Given the description of an element on the screen output the (x, y) to click on. 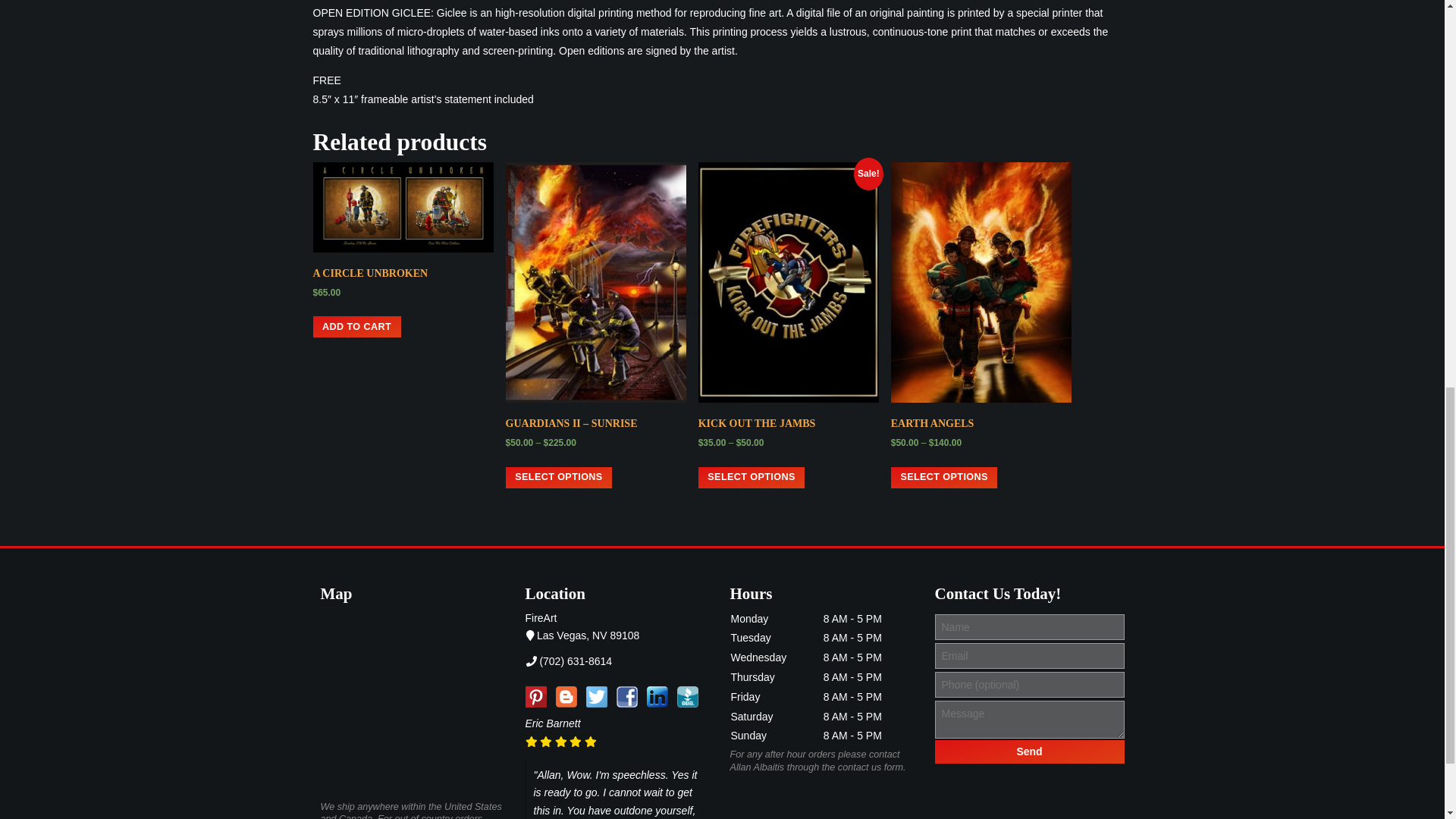
Send (1029, 751)
ADD TO CART (356, 326)
SELECT OPTIONS (558, 477)
SELECT OPTIONS (751, 477)
